Given the description of an element on the screen output the (x, y) to click on. 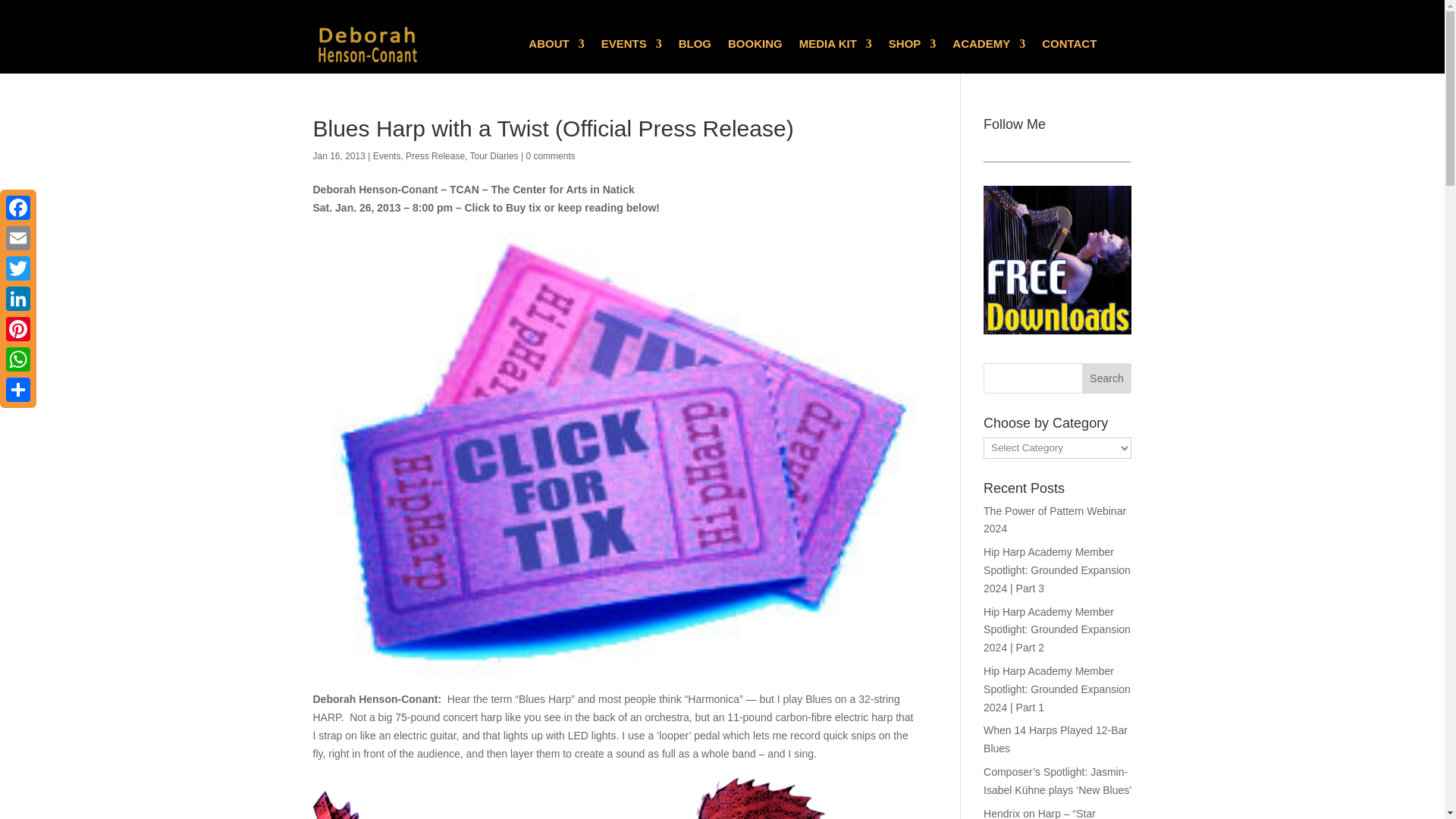
CONTACT (1069, 46)
When 14 Harps Played 12-Bar Blues (1055, 738)
ABOUT (555, 46)
ACADEMY (988, 46)
dhc-text-logo-2lines (398, 42)
EVENTS (631, 46)
Search (1106, 378)
MEDIA KIT (835, 46)
DHC-Harley-posterized (614, 798)
BLOG (694, 46)
The Power of Pattern Webinar 2024 (1054, 520)
BOOKING (755, 46)
SHOP (912, 46)
